Given the description of an element on the screen output the (x, y) to click on. 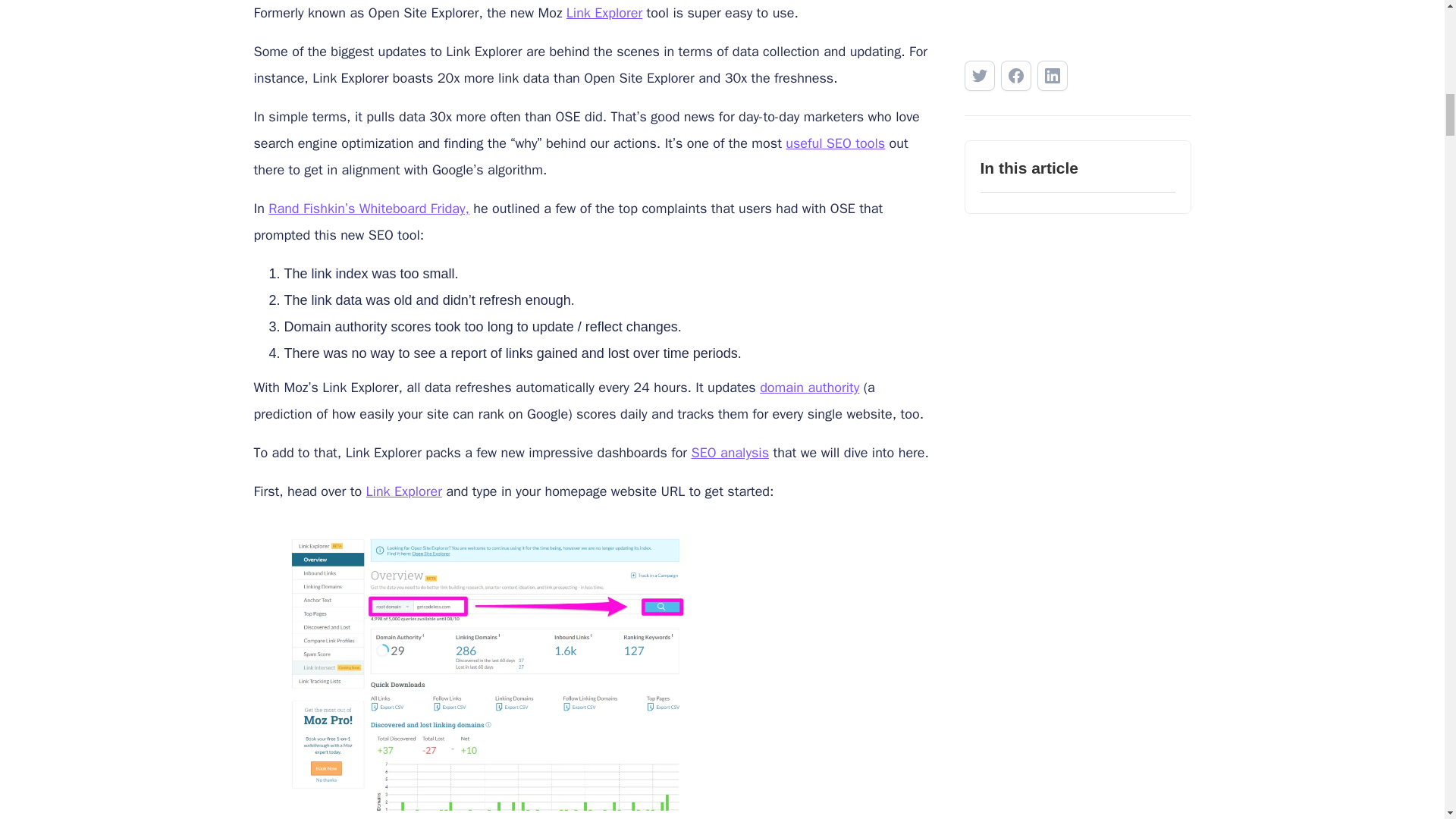
Link Explorer (604, 12)
useful SEO tools (835, 143)
Link Explorer (404, 491)
SEO analysis (729, 452)
domain authority (809, 387)
